Given the description of an element on the screen output the (x, y) to click on. 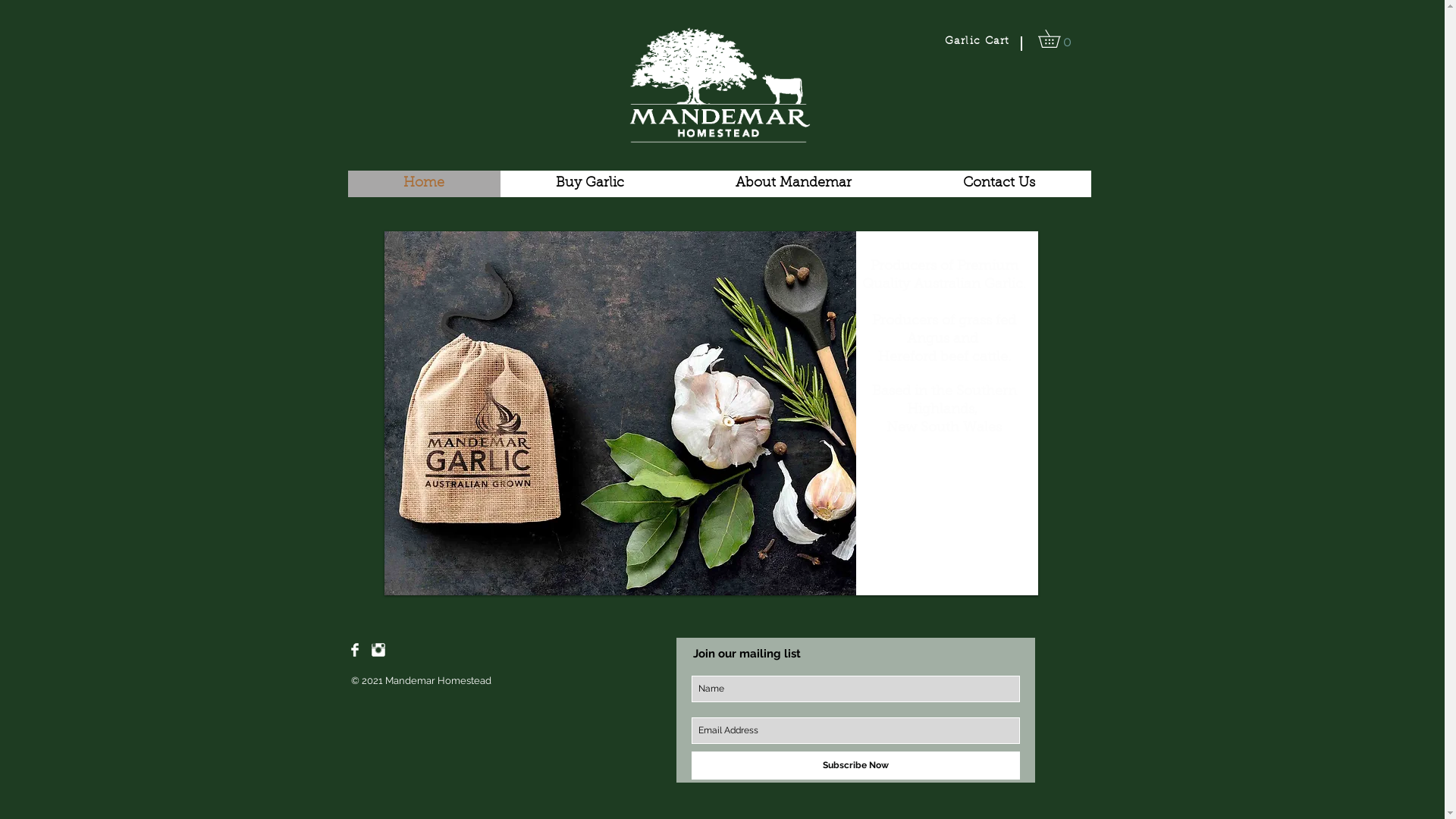
Buy Garlic Element type: text (590, 183)
Subscribe Now Element type: text (855, 765)
About Mandemar Element type: text (792, 183)
Contact Us Element type: text (998, 183)
Home Element type: text (423, 183)
0 Element type: text (1056, 38)
